Given the description of an element on the screen output the (x, y) to click on. 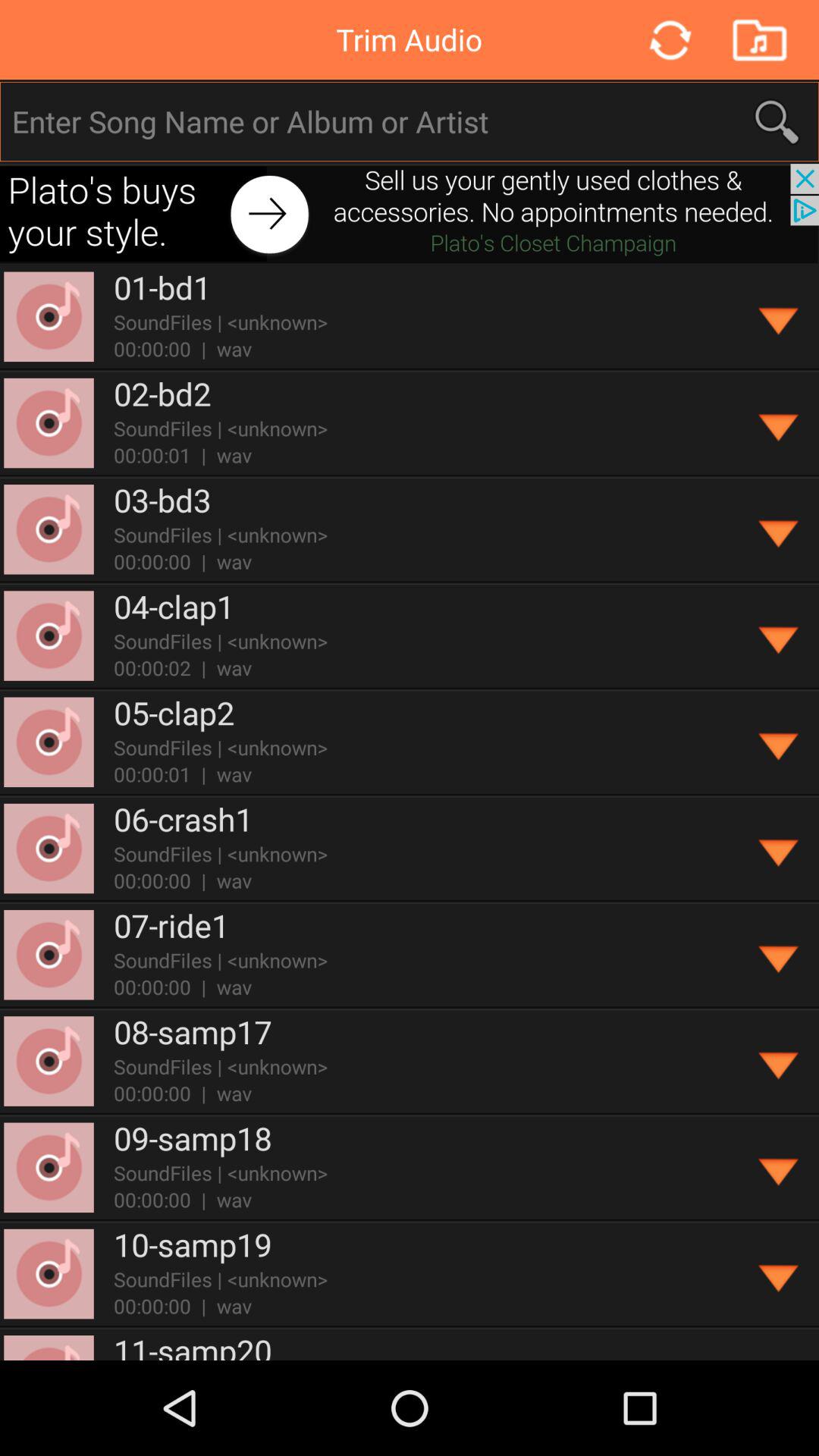
play song (779, 1273)
